Given the description of an element on the screen output the (x, y) to click on. 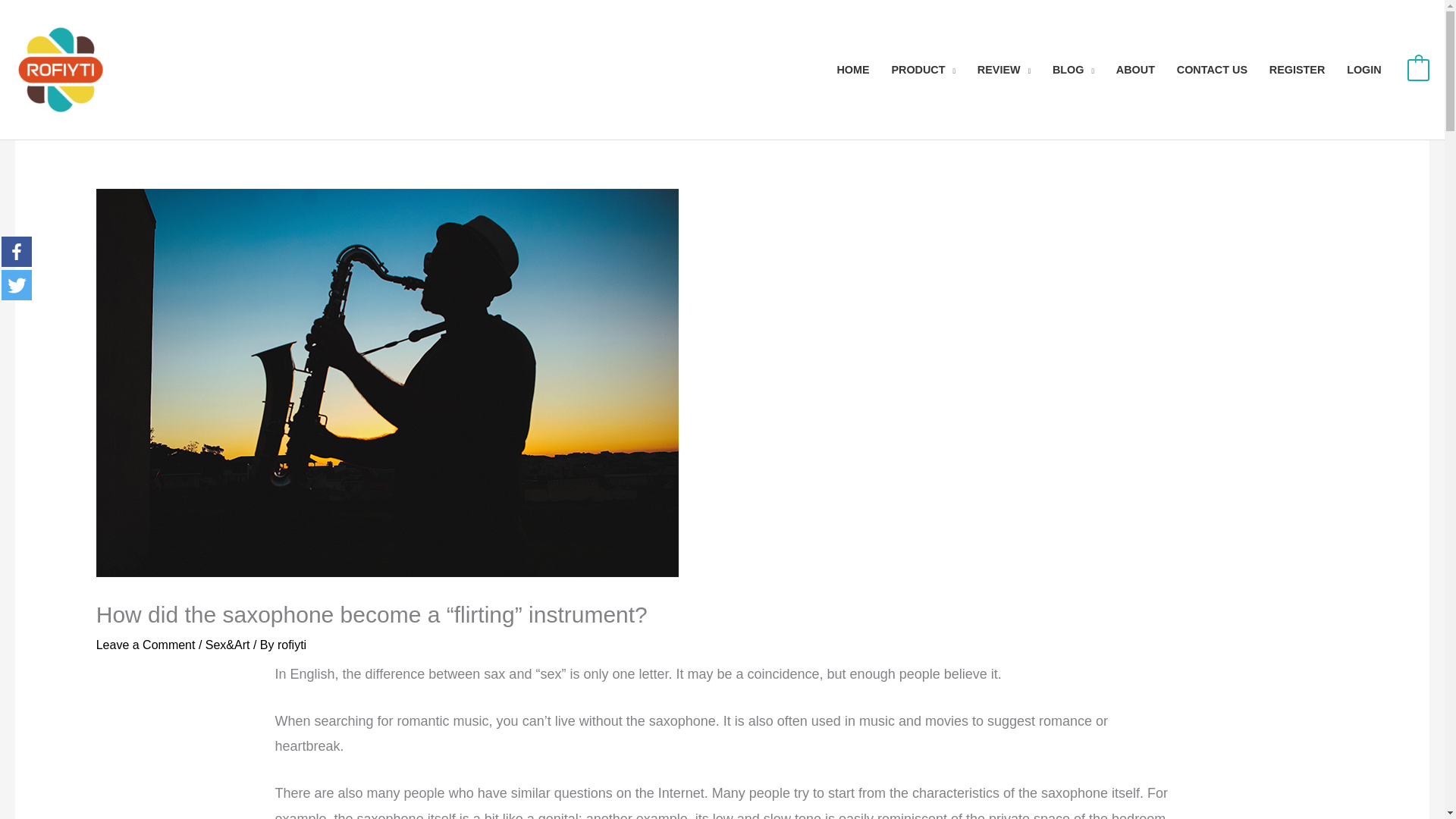
BLOG (1073, 69)
LOGIN (1363, 69)
PRODUCT (923, 69)
View all posts by rofiyti (291, 644)
CONTACT US (1211, 69)
0 (1418, 69)
REVIEW (1003, 69)
Facebook (16, 251)
ABOUT (1135, 69)
REGISTER (1296, 69)
